Given the description of an element on the screen output the (x, y) to click on. 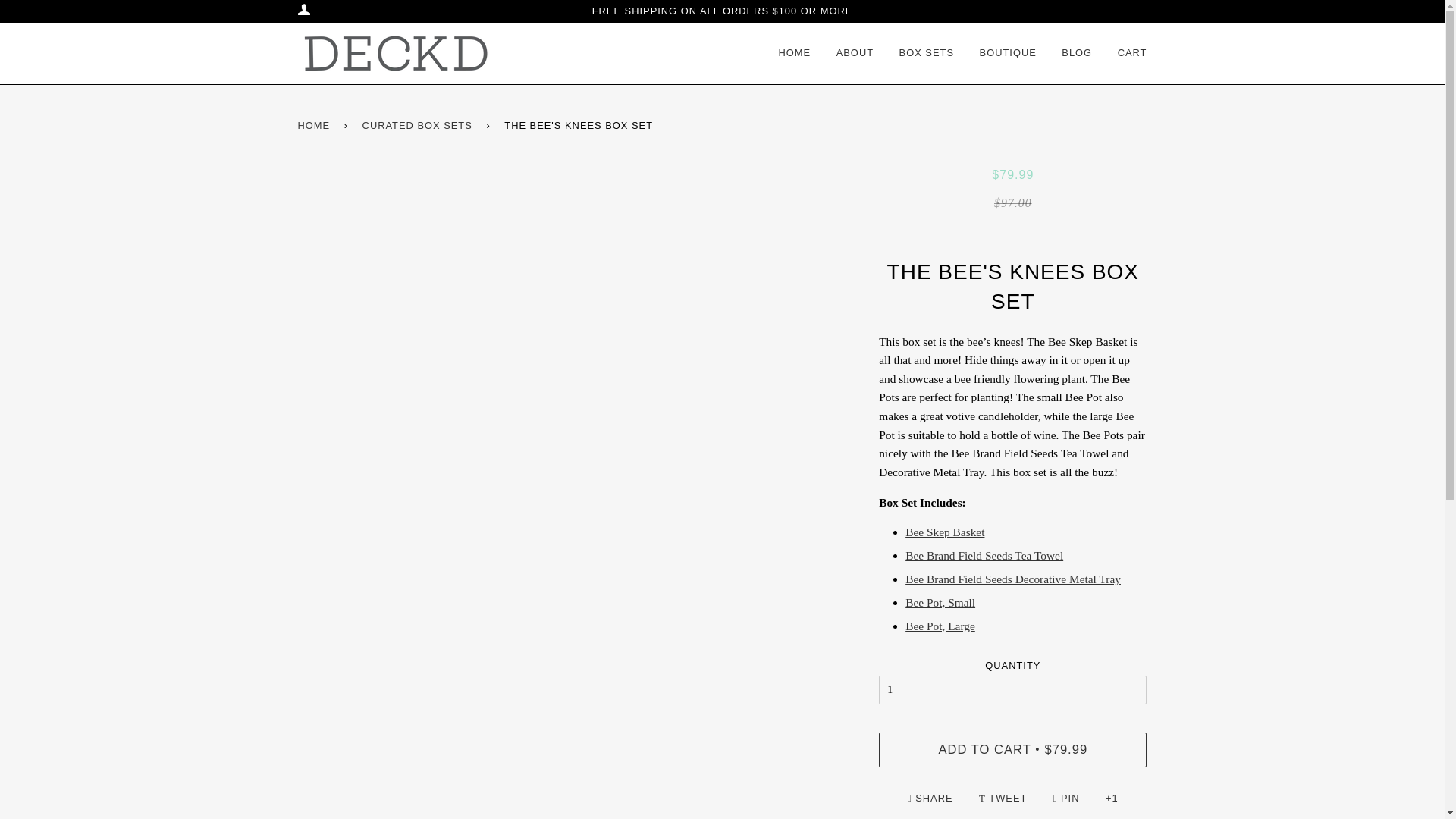
CURATED BOX SETS (419, 125)
PIN (1067, 797)
HOME (315, 125)
1 (1013, 689)
TWEET (1004, 797)
Bee Skep Basket (944, 531)
SHARE (931, 797)
Back to the frontpage (315, 125)
Bee Brand Field Seeds Tea Towel (983, 554)
Bee Brand Field Seeds Decorative Metal Tray (1013, 578)
Bee Pot, Small (940, 602)
Bee Pot, Large (940, 625)
BOUTIQUE (1007, 53)
